Given the description of an element on the screen output the (x, y) to click on. 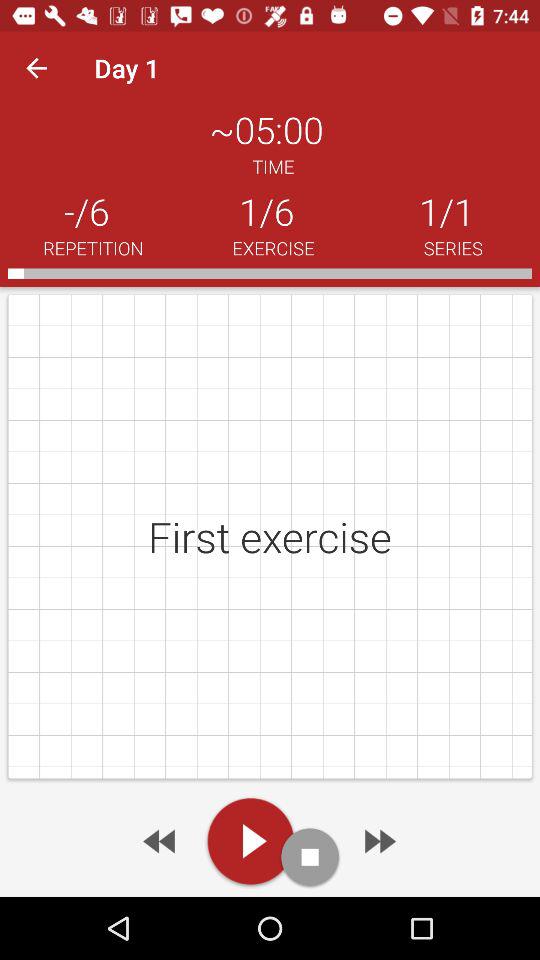
go back (161, 841)
